Given the description of an element on the screen output the (x, y) to click on. 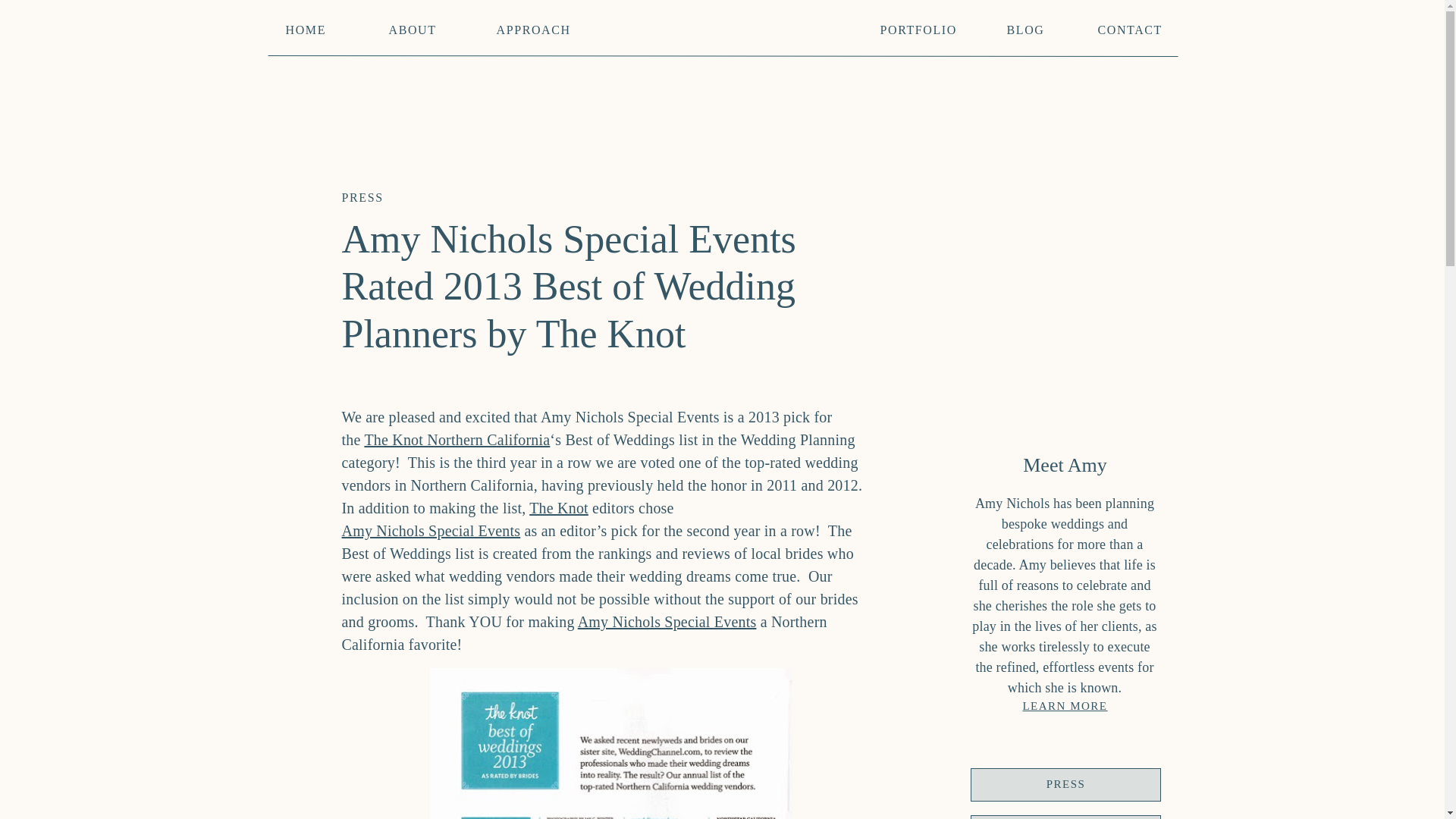
HOME (304, 27)
Amy Nichols Special Events (667, 621)
WEDDINGS (1064, 816)
APPROACH (530, 27)
PRESS (1065, 784)
BLOG (1025, 27)
PRESS (361, 196)
ABOUT (410, 27)
PORTFOLIO (915, 27)
Amy Nichols Special Events (429, 530)
The Knot (558, 507)
CONTACT (1127, 27)
LEARN MORE (1064, 705)
The Knot Northern California (457, 439)
